Given the description of an element on the screen output the (x, y) to click on. 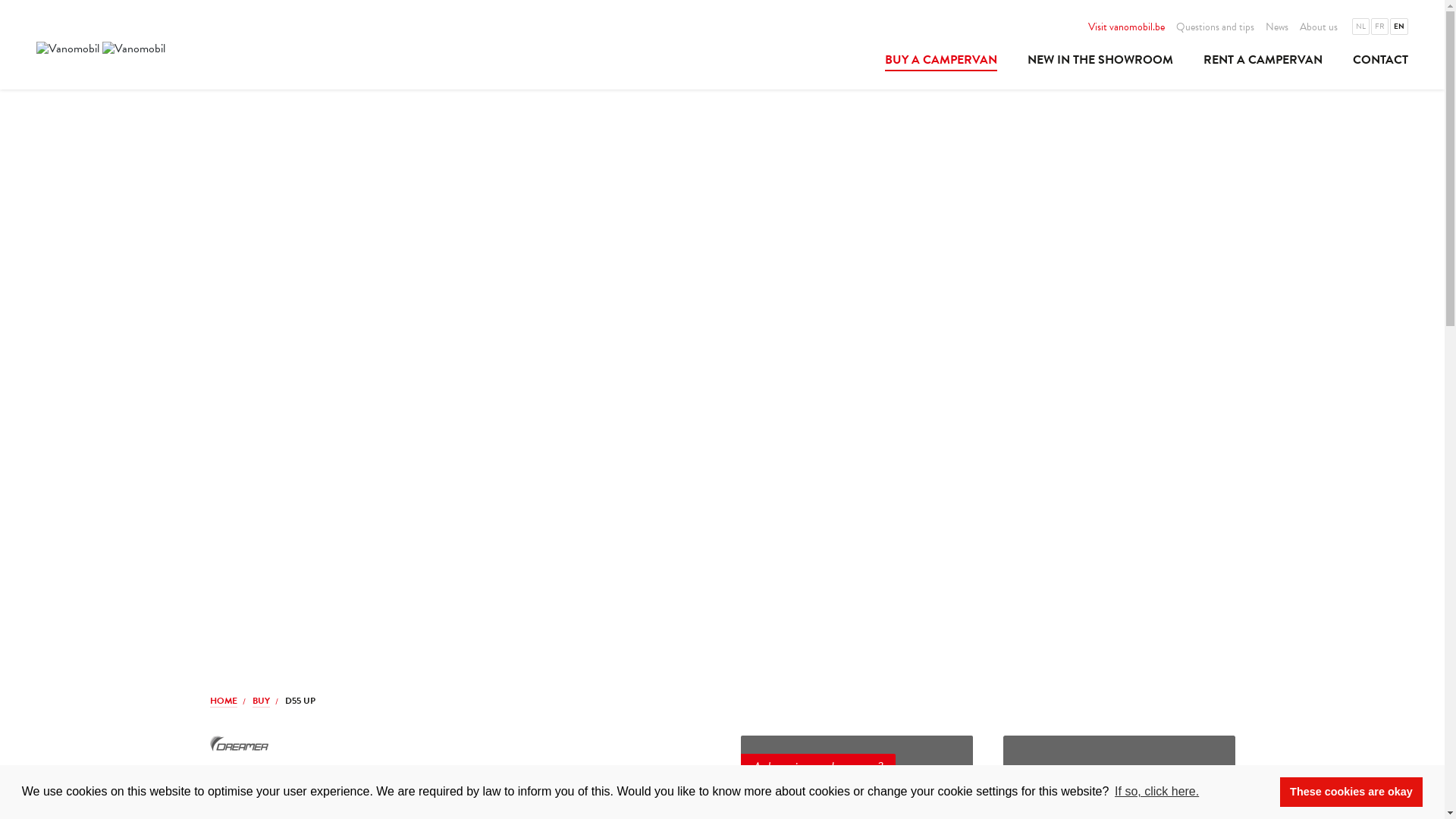
News Element type: text (1276, 26)
CONTACT Element type: text (1372, 61)
BUY A CAMPERVAN Element type: text (940, 61)
NEW IN THE SHOWROOM Element type: text (1100, 61)
BUY Element type: text (260, 701)
If so, click here. Element type: text (1156, 791)
HOME Element type: text (222, 701)
These cookies are okay Element type: text (1351, 791)
Questions and tips Element type: text (1215, 26)
RENT A CAMPERVAN Element type: text (1262, 61)
EN Element type: text (1398, 26)
About us Element type: text (1318, 26)
Visit vanomobil.be Element type: text (1126, 27)
Dreamer Element type: hover (238, 743)
NL Element type: text (1360, 26)
FR Element type: text (1379, 26)
